Given the description of an element on the screen output the (x, y) to click on. 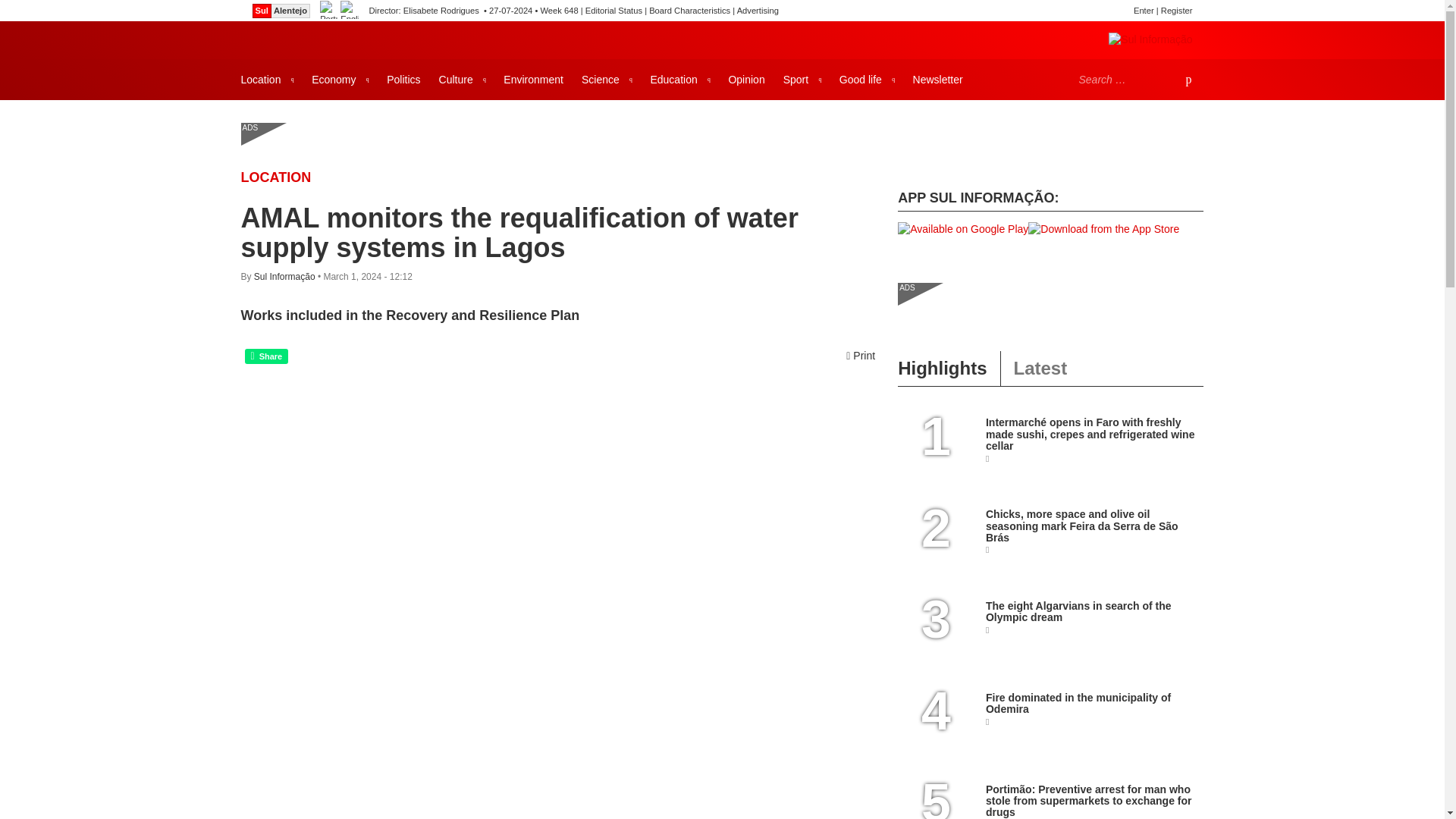
Economy (339, 78)
Advertising (757, 10)
Sul (260, 11)
Register (1176, 10)
Board Characteristics (689, 10)
Alentejo (290, 11)
Location (276, 177)
Location (266, 78)
Share on Whatsapp (266, 355)
Editorial Status (613, 10)
Enter (1144, 10)
Portuguese (328, 10)
English (349, 10)
